Given the description of an element on the screen output the (x, y) to click on. 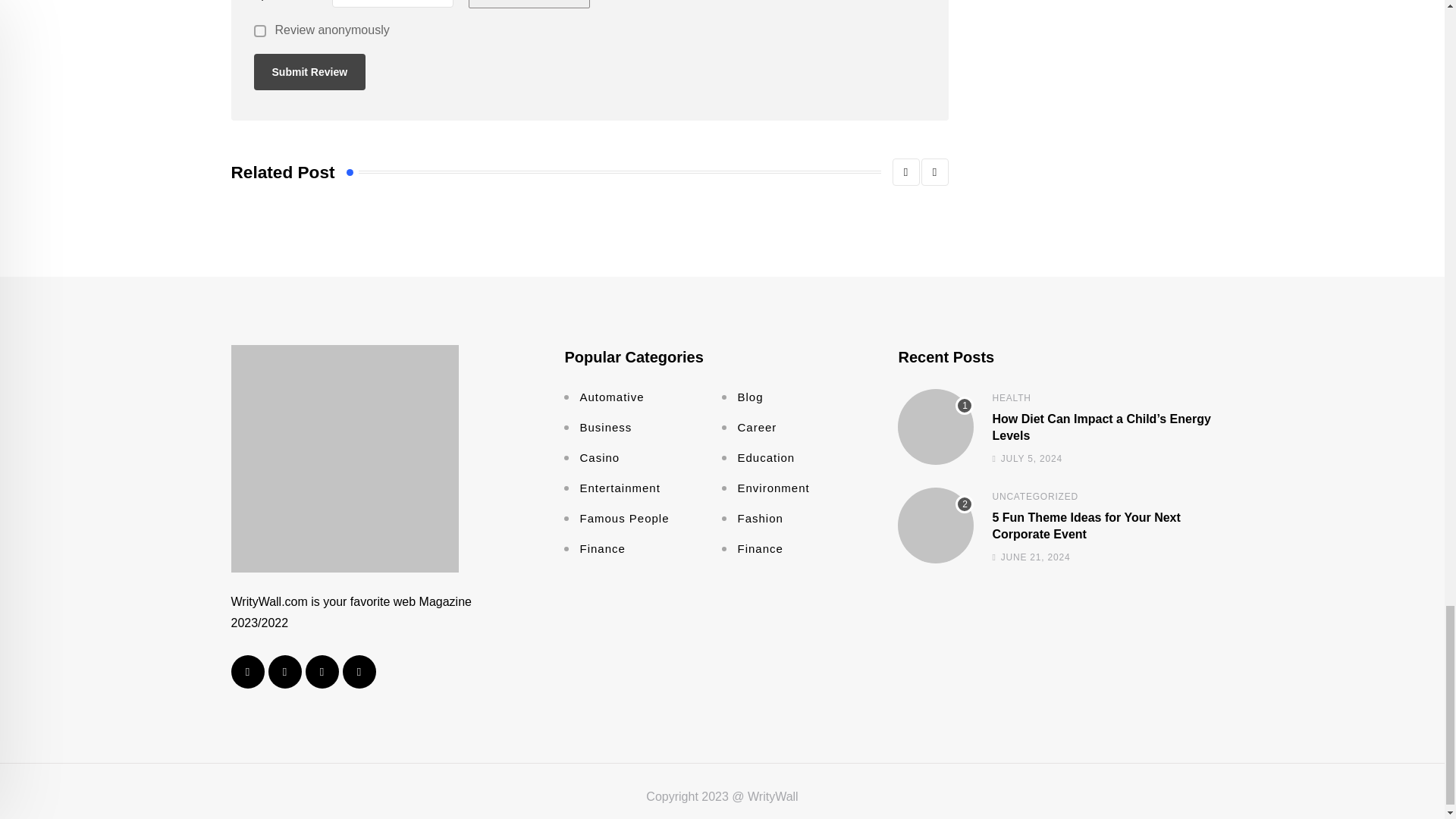
5 Fun Theme Ideas for Your Next Corporate Event (936, 525)
Submit Review (309, 72)
